Given the description of an element on the screen output the (x, y) to click on. 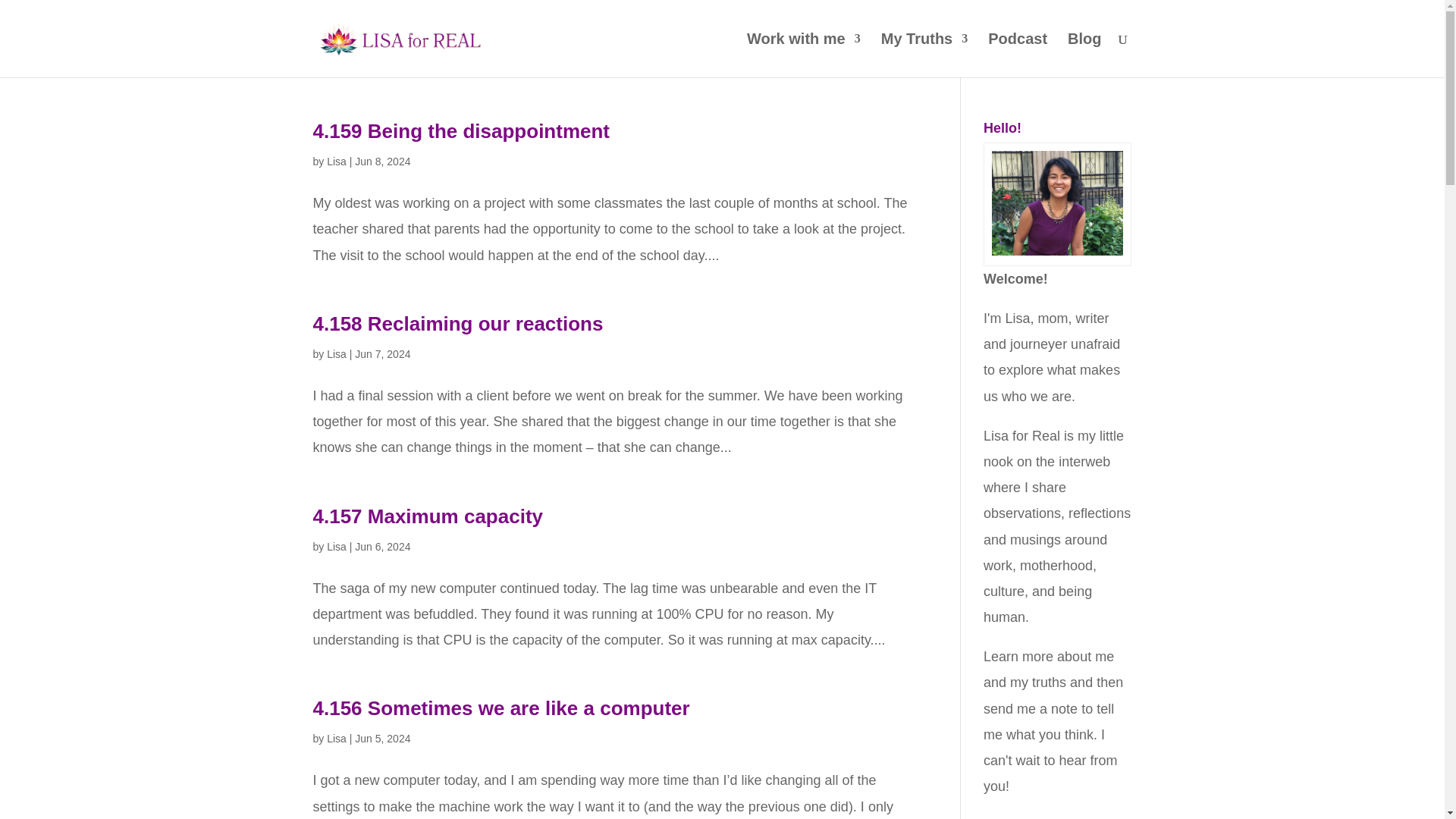
Lisa (336, 545)
4.157 Maximum capacity (428, 516)
4.158 Reclaiming our reactions (457, 323)
Work with me (803, 54)
Posts by Lisa (336, 738)
Lisa (336, 738)
4.156 Sometimes we are like a computer (500, 707)
Posts by Lisa (336, 354)
send me a note (1030, 708)
my truths (1037, 682)
Lisa (336, 354)
Lisa (336, 161)
Posts by Lisa (336, 545)
My Truths (924, 54)
4.159 Being the disappointment (461, 130)
